Given the description of an element on the screen output the (x, y) to click on. 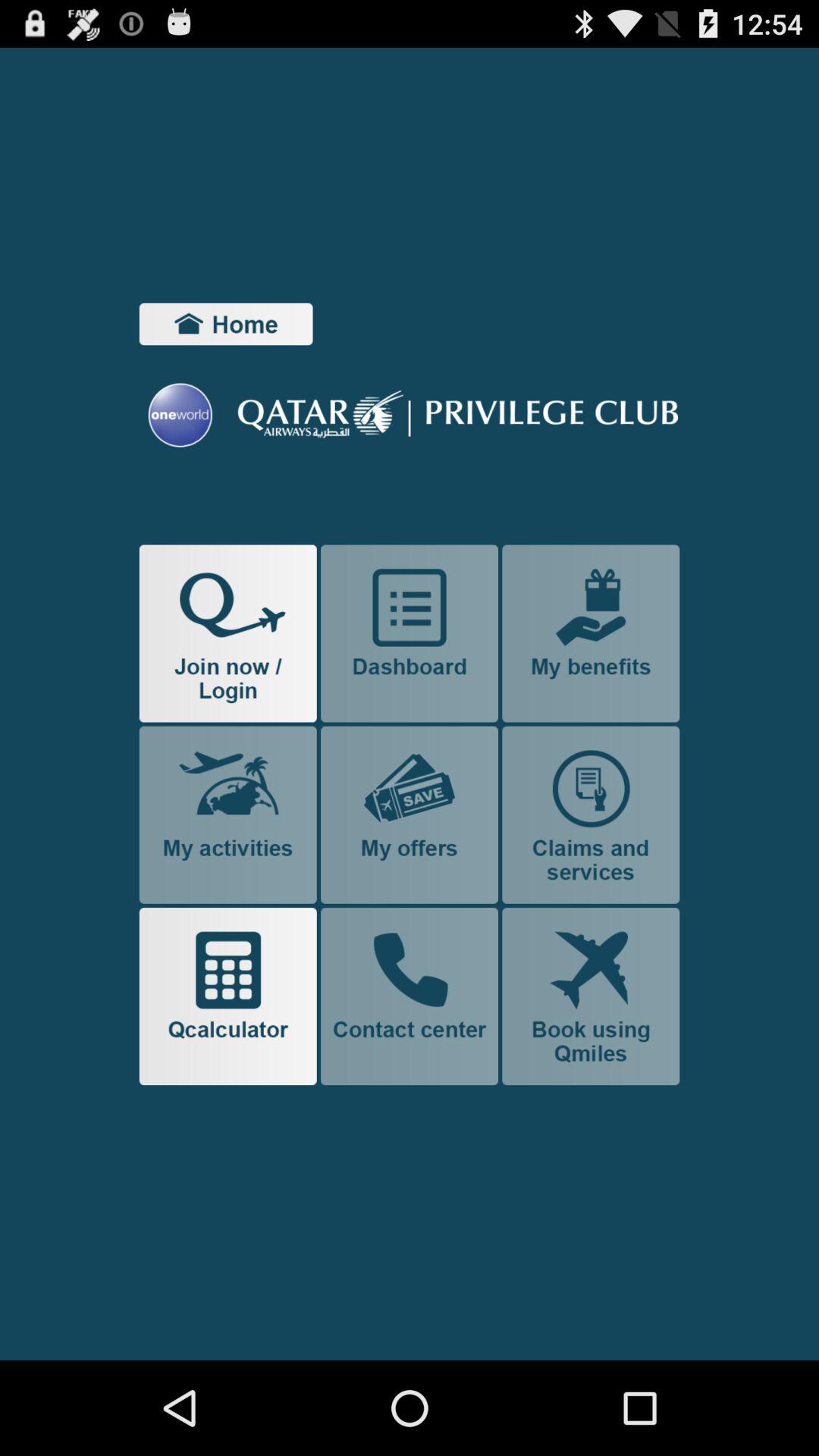
select the icon at the bottom right corner (590, 996)
